Given the description of an element on the screen output the (x, y) to click on. 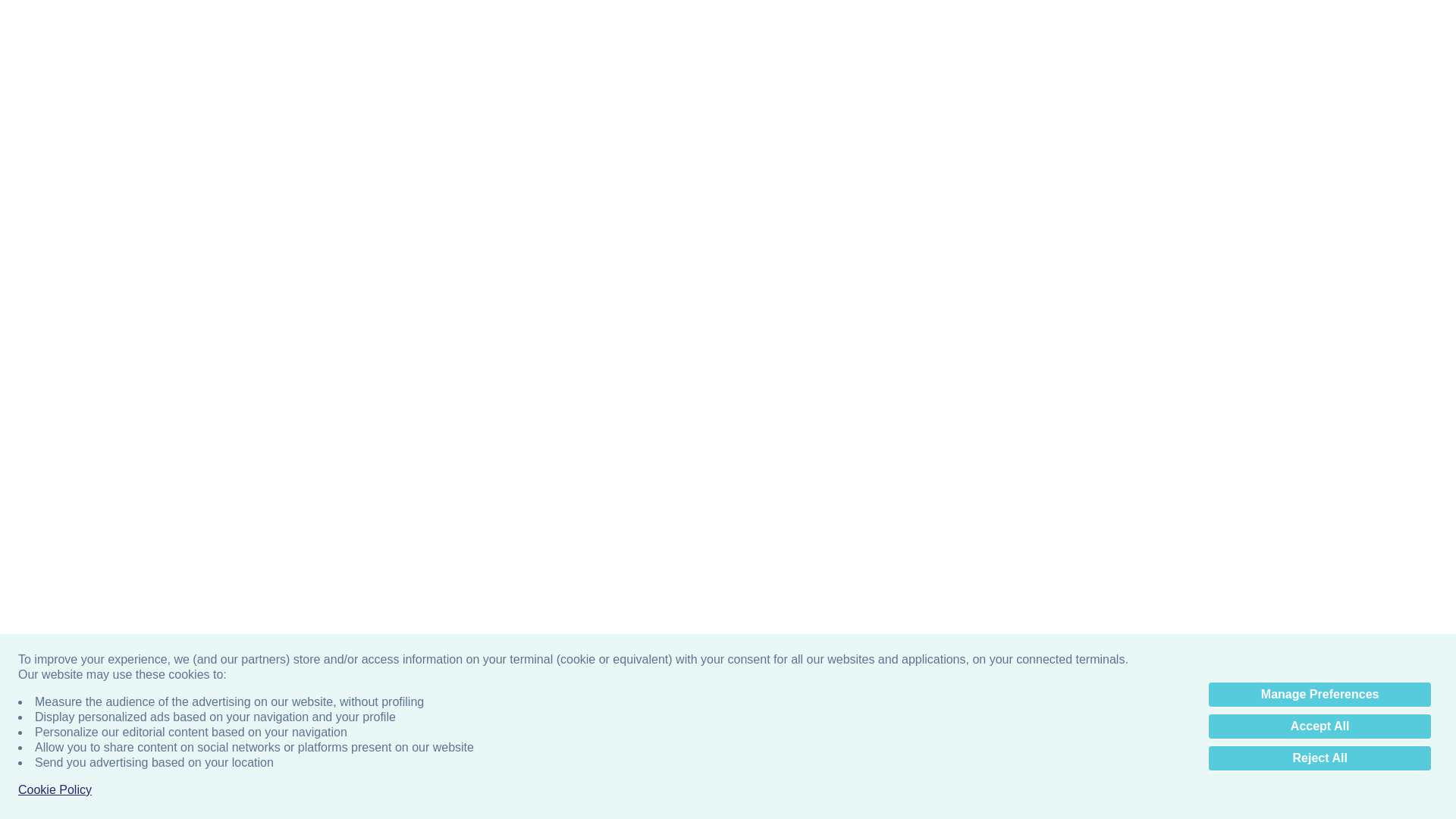
Accept All (1319, 13)
Reject All (1319, 45)
Cookie Policy (54, 77)
